Given the description of an element on the screen output the (x, y) to click on. 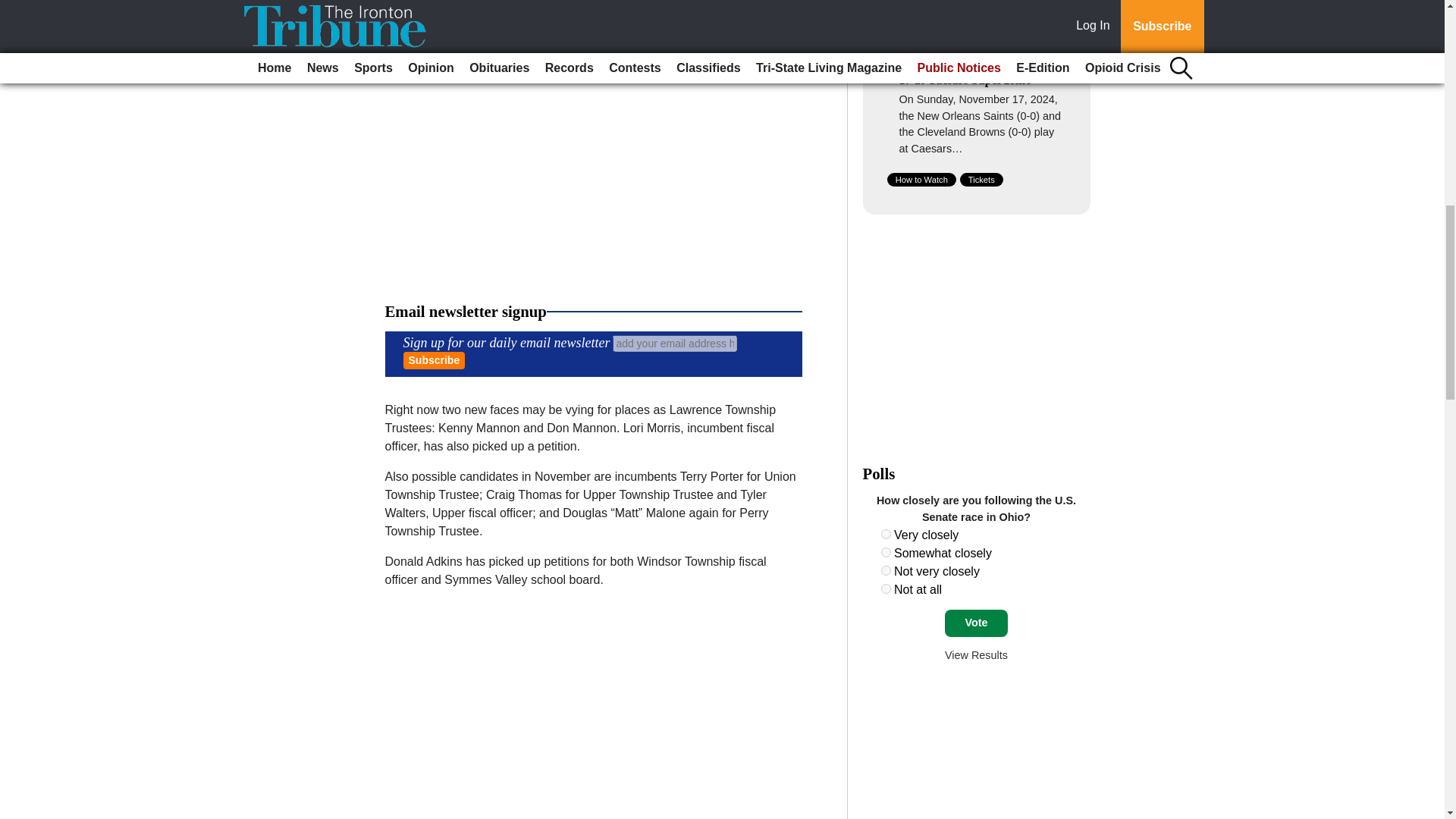
View Results (975, 654)
Subscribe (434, 360)
Subscribe (434, 360)
1432 (885, 533)
View Results Of This Poll (975, 654)
   Vote    (975, 623)
How to Watch (921, 179)
1433 (885, 552)
1435 (885, 588)
1434 (885, 570)
Tickets (981, 179)
